Given the description of an element on the screen output the (x, y) to click on. 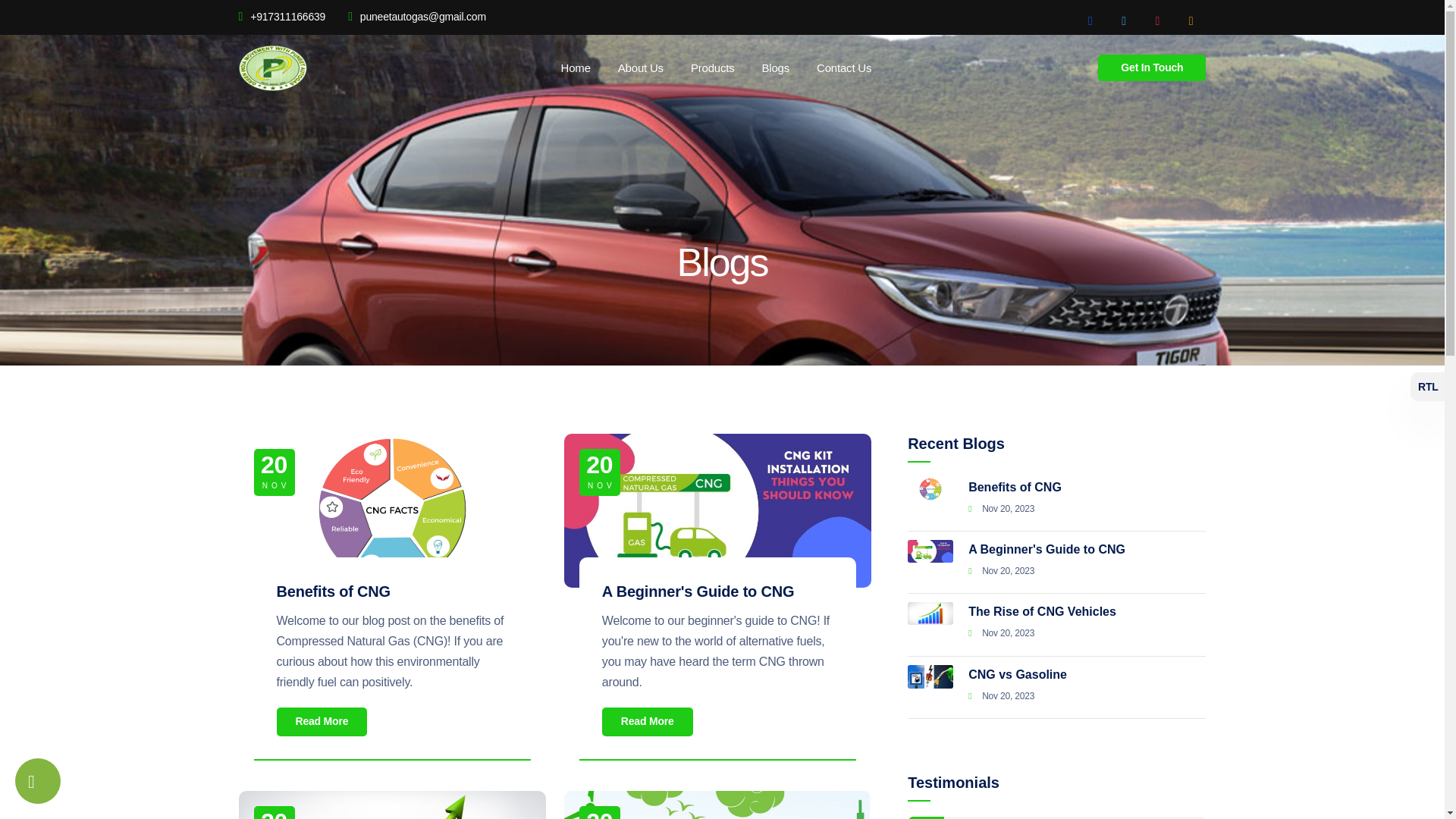
The Rise of CNG Vehicles (1086, 611)
Products (703, 67)
Benefits of CNG (1086, 487)
CNG vs Gasoline (1086, 674)
Benefits of CNG (333, 591)
Get In Touch (1151, 67)
Read More (647, 721)
About Us (631, 67)
A Beginner's Guide to CNG (697, 591)
Contact Us (834, 67)
A Beginner's Guide to CNG (1086, 549)
Read More (321, 721)
